Given the description of an element on the screen output the (x, y) to click on. 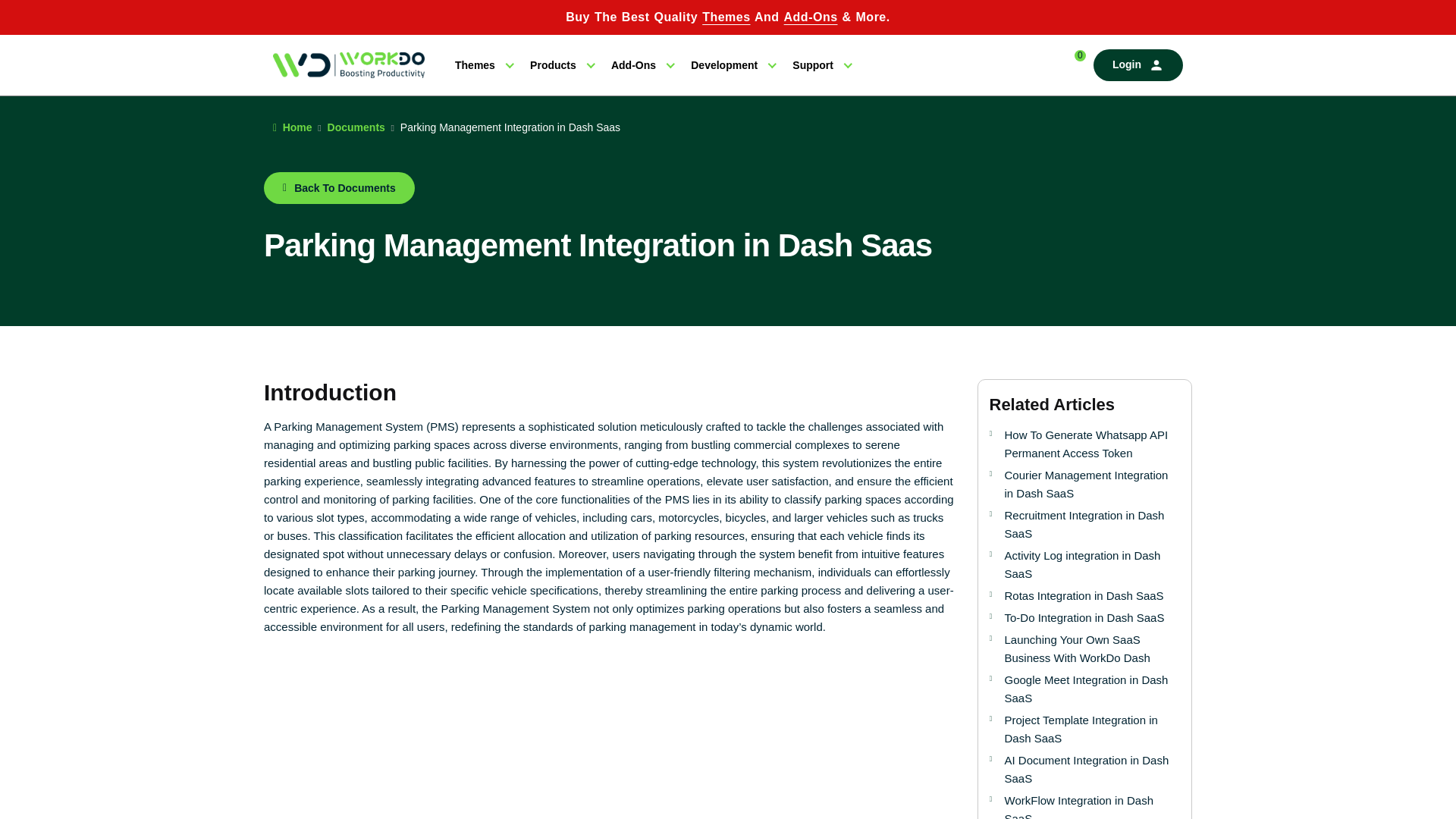
Add-Ons (811, 17)
Google Meet Integration in Dash SaaS (1091, 688)
WorkFlow Integration in Dash SaaS (1091, 805)
Rotas Integration in Dash SaaS (1091, 596)
Add-Ons (641, 64)
Themes (482, 64)
View your shopping cart (1070, 64)
Development (731, 64)
Courier Management Integration in Dash SaaS (1091, 484)
Project Template Integration in Dash SaaS (1091, 729)
